Given the description of an element on the screen output the (x, y) to click on. 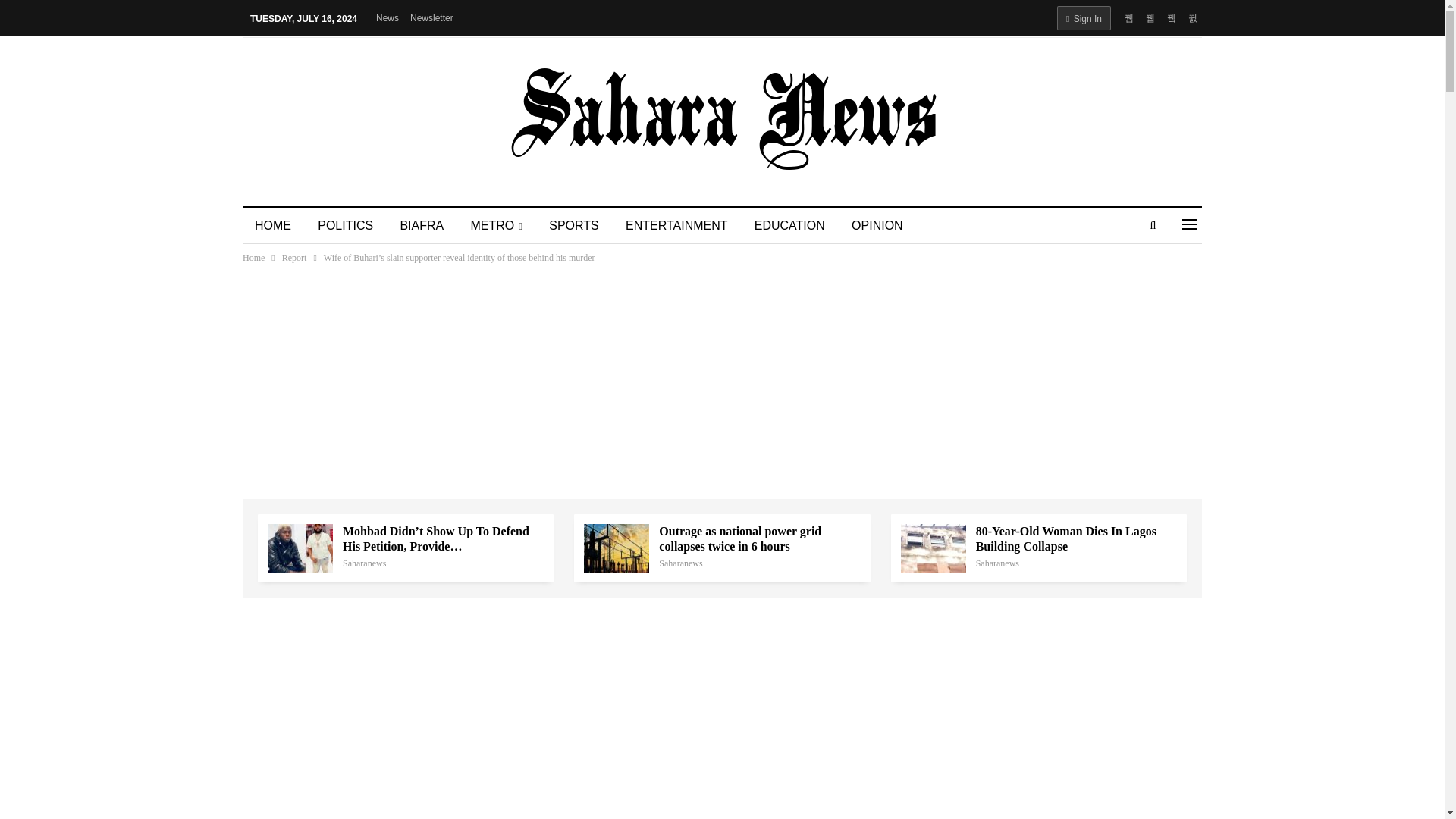
News (386, 18)
BIAFRA (421, 226)
METRO (496, 226)
HOME (272, 226)
Outrage as national power grid collapses twice in 6 hours (616, 548)
Browse Author Articles (997, 562)
POLITICS (345, 226)
ENTERTAINMENT (675, 226)
Sign In (1083, 17)
EDUCATION (789, 226)
OPINION (877, 226)
Browse Author Articles (363, 562)
SPORTS (574, 226)
